Given the description of an element on the screen output the (x, y) to click on. 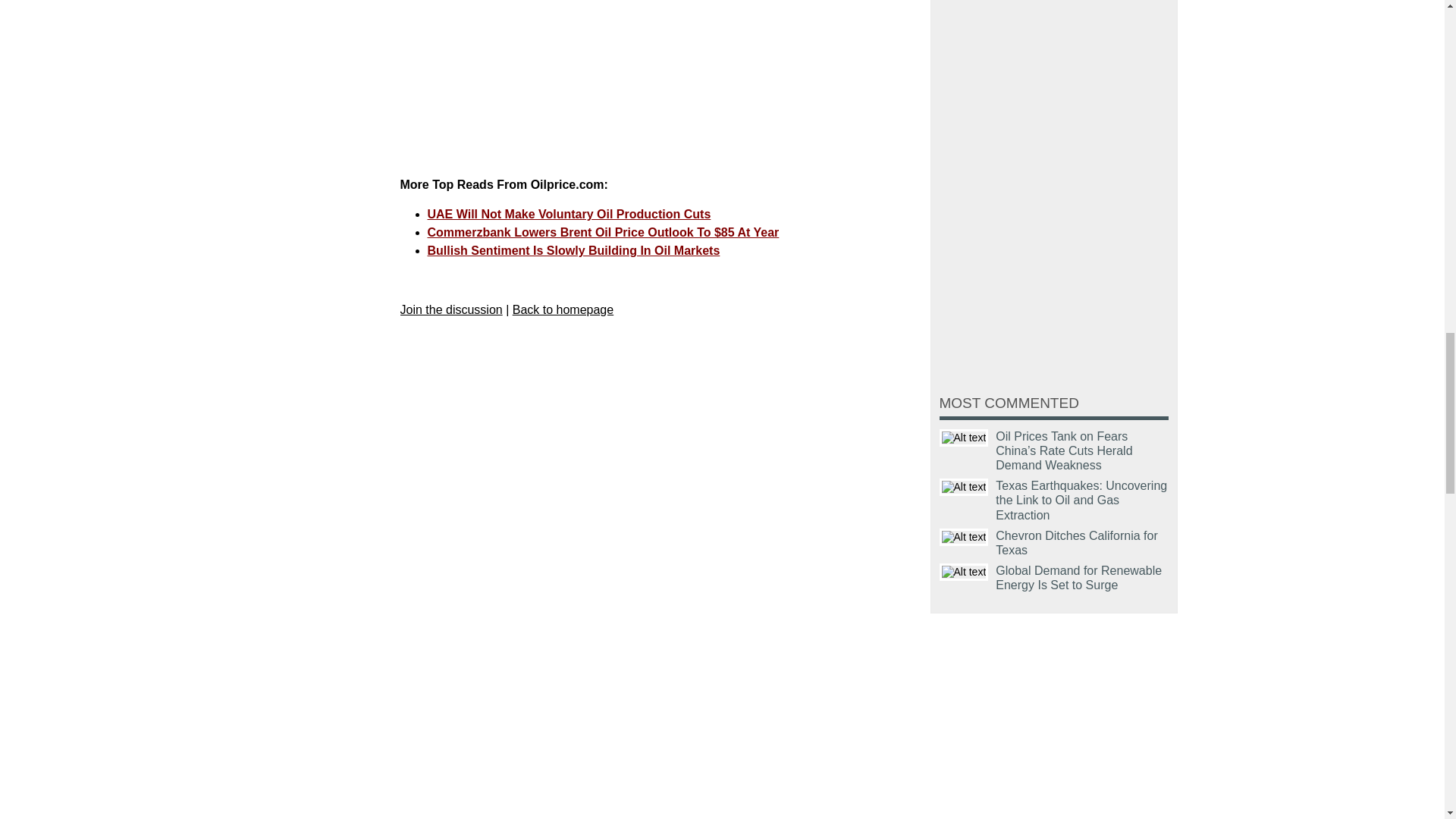
Title text (963, 537)
Title text (963, 571)
Title text (963, 487)
Title text (963, 437)
